Given the description of an element on the screen output the (x, y) to click on. 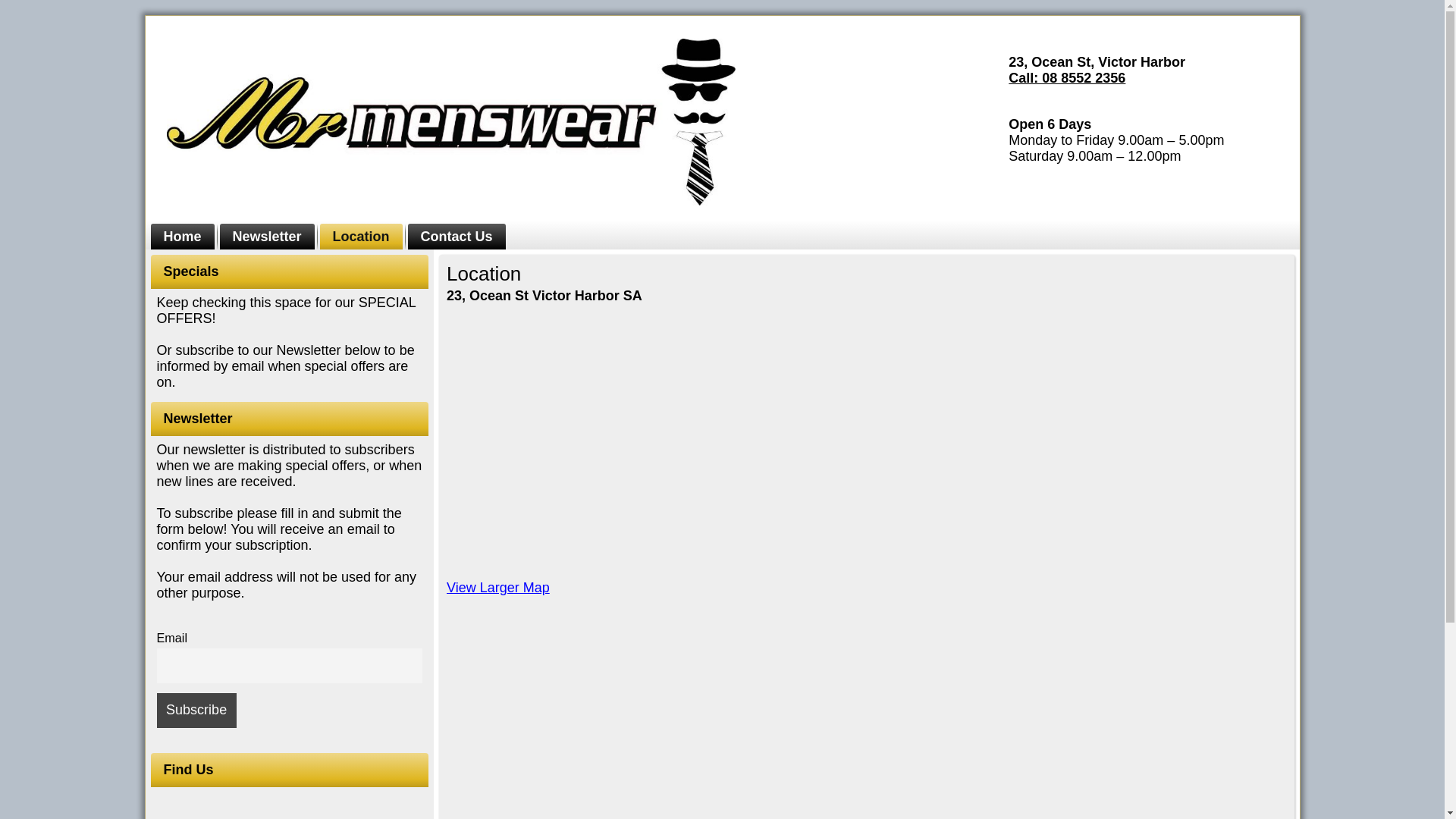
Call: 08 8552 2356 Element type: text (1066, 77)
Newsletter Element type: text (266, 236)
Home Element type: text (181, 236)
Location Element type: text (361, 236)
Contact Us Element type: text (456, 236)
Subscribe Element type: text (195, 710)
View Larger Map Element type: text (497, 587)
